Given the description of an element on the screen output the (x, y) to click on. 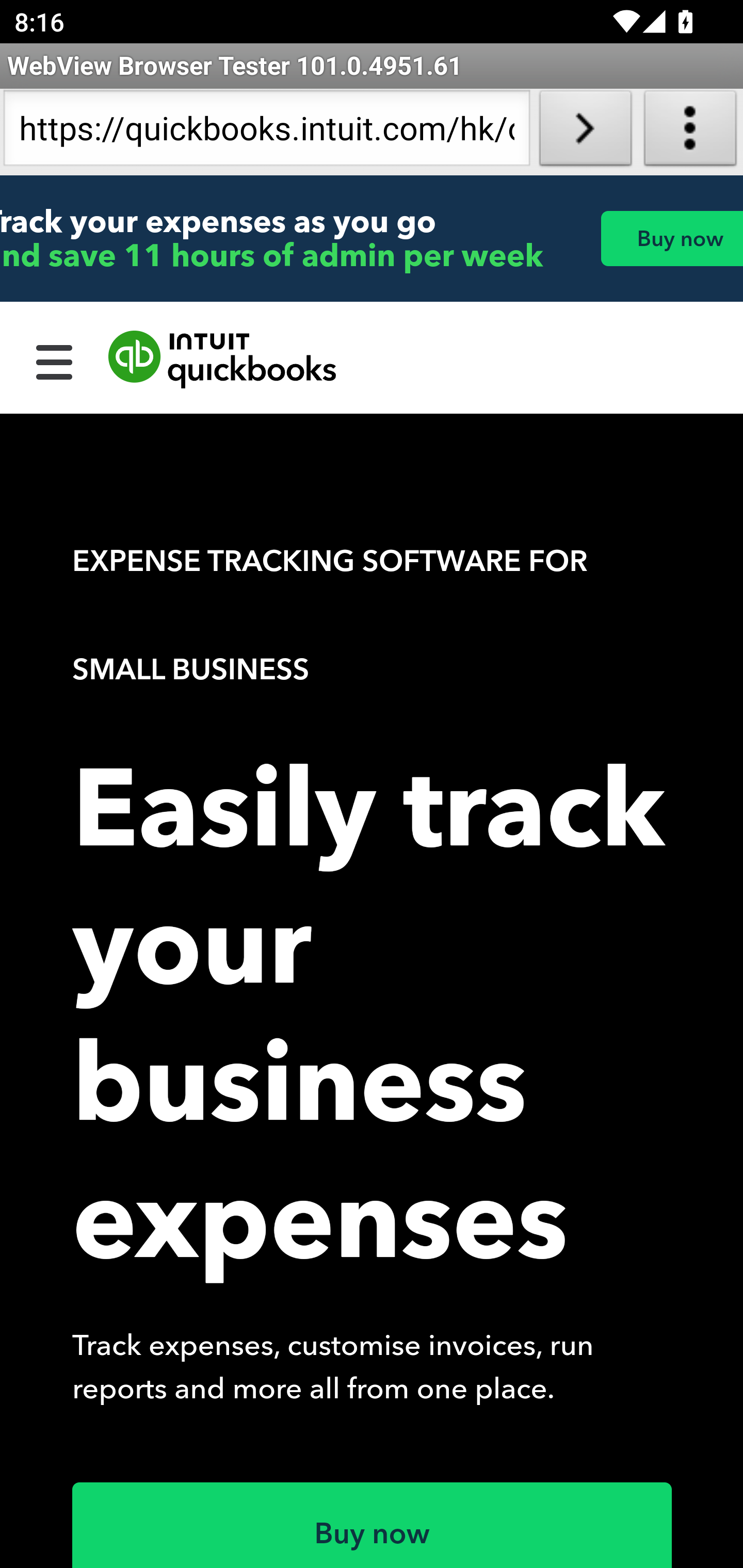
Load URL (585, 132)
About WebView (690, 132)
Buy now (671, 238)
quickbooks-mobile-burger (54, 359)
quickbooks (222, 359)
Buy now (372, 1524)
